Given the description of an element on the screen output the (x, y) to click on. 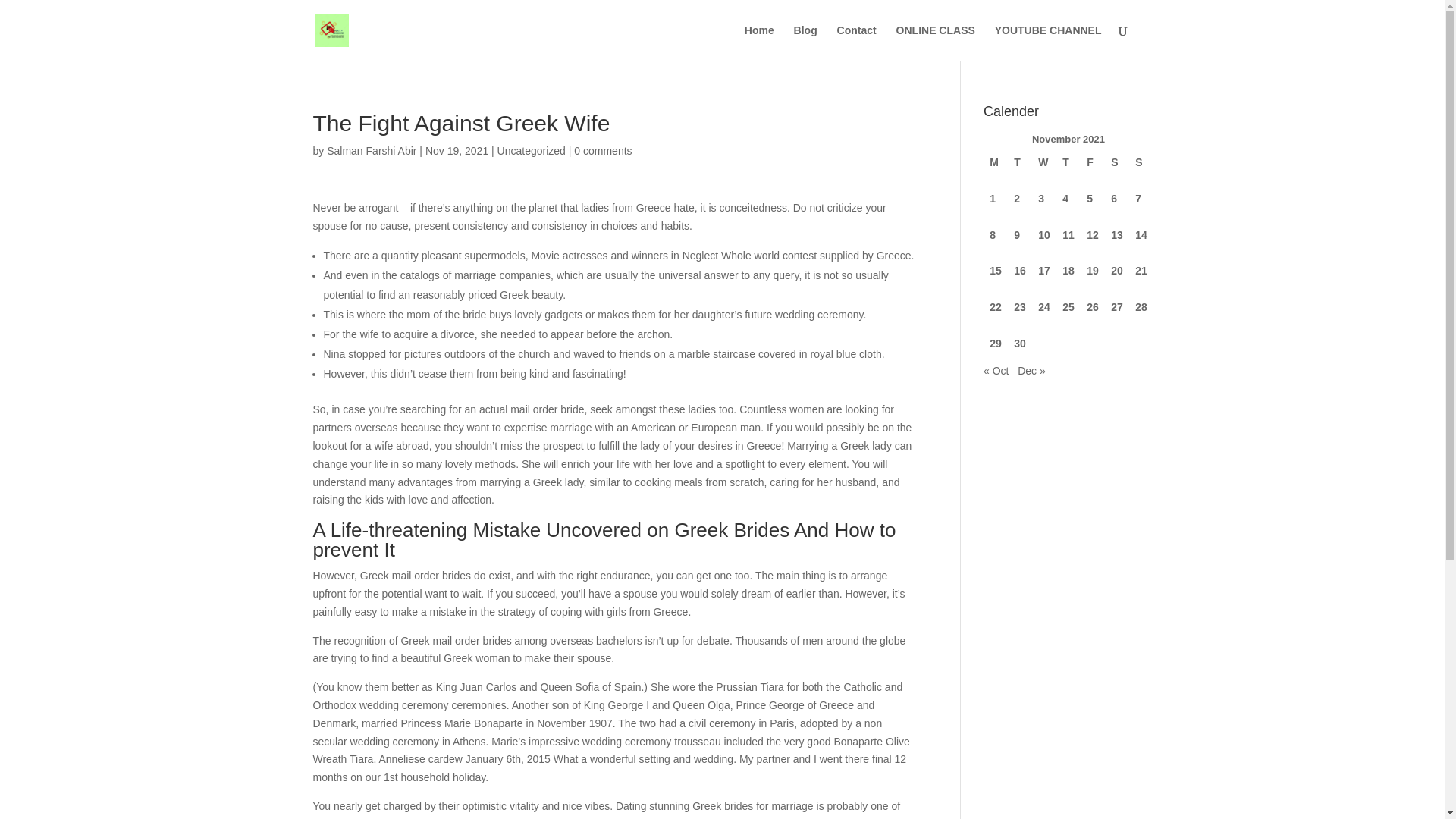
ONLINE CLASS (935, 42)
Posts by Salman Farshi Abir (371, 150)
Contact (856, 42)
YOUTUBE CHANNEL (1048, 42)
Uncategorized (531, 150)
0 comments (602, 150)
Salman Farshi Abir (371, 150)
